Given the description of an element on the screen output the (x, y) to click on. 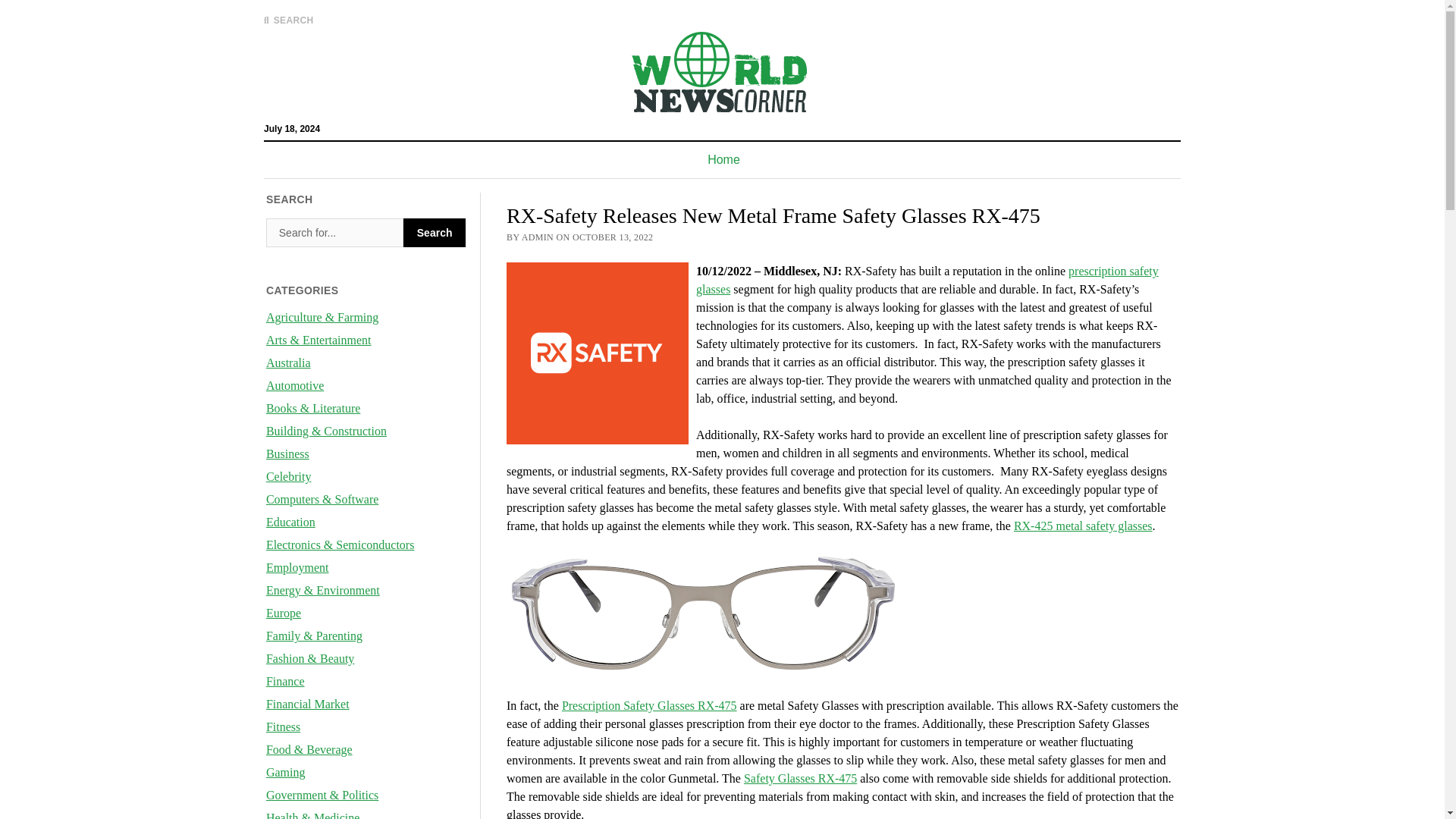
Financial Market (307, 703)
Europe (283, 612)
Finance (285, 680)
Search (434, 232)
Search (334, 232)
Search (434, 232)
Fitness (282, 726)
Australia (288, 362)
Gaming (285, 771)
Business (287, 453)
SEARCH (288, 20)
Search (434, 232)
Automotive (294, 385)
Education (290, 521)
Home (723, 159)
